Given the description of an element on the screen output the (x, y) to click on. 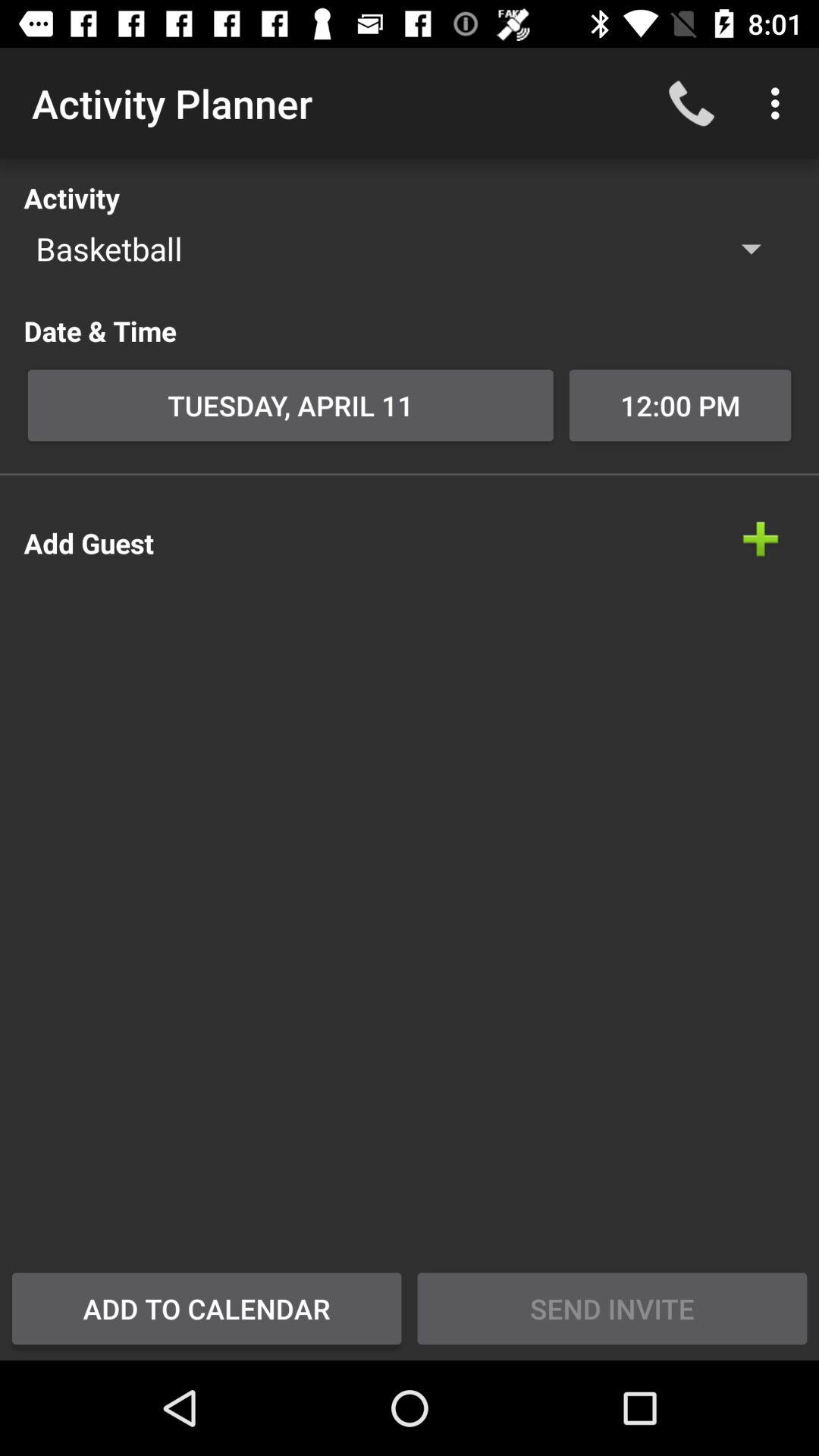
launch item below the add guest item (206, 1308)
